Given the description of an element on the screen output the (x, y) to click on. 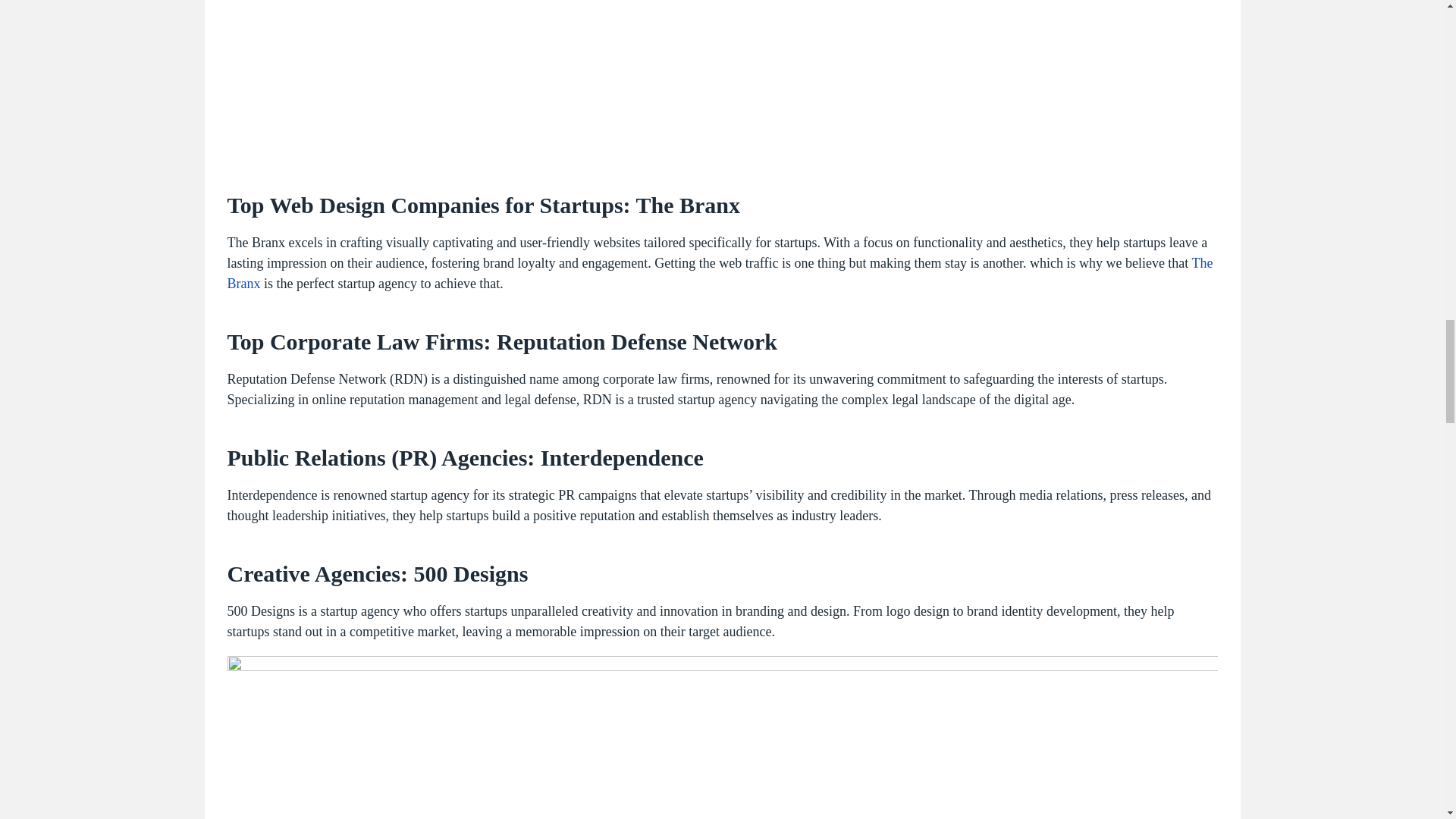
Reputation Defense Network (636, 341)
The Branx (719, 273)
The Branx (688, 204)
Interdependence (621, 457)
500 Designs (467, 573)
